Given the description of an element on the screen output the (x, y) to click on. 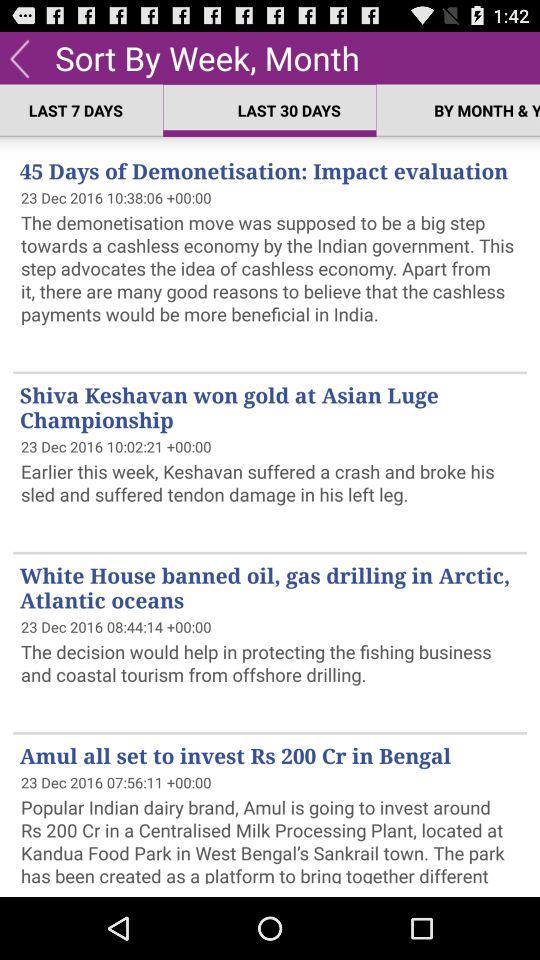
go back (19, 57)
